Given the description of an element on the screen output the (x, y) to click on. 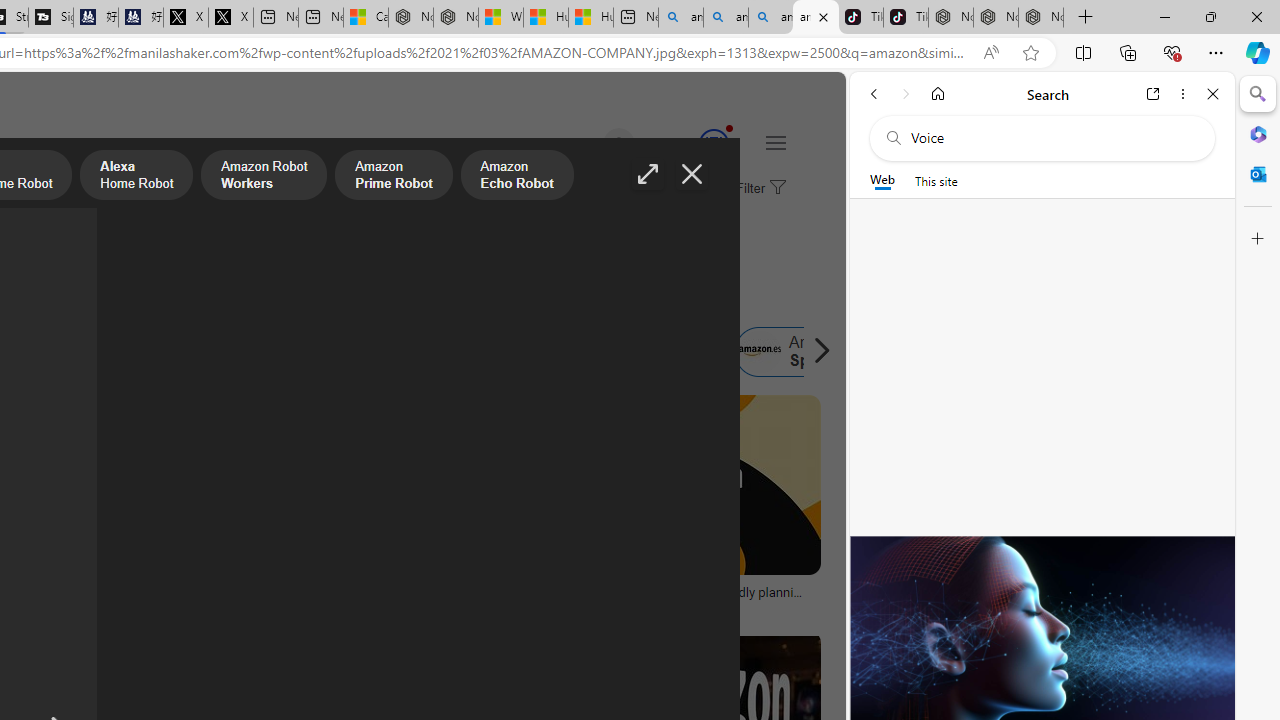
More options (1182, 93)
Close (1213, 93)
Class: medal-circled (713, 143)
Alexa Home Robot (136, 177)
Web scope (882, 180)
TikTok (905, 17)
logopng.com.br (98, 606)
Scroll right (816, 351)
Huge shark washes ashore at New York City beach | Watch (591, 17)
Nordace - Siena Pro 15 Essential Set (1040, 17)
logopng.com.br (63, 605)
Customize (1258, 239)
Split screen (1083, 52)
New tab (635, 17)
